Given the description of an element on the screen output the (x, y) to click on. 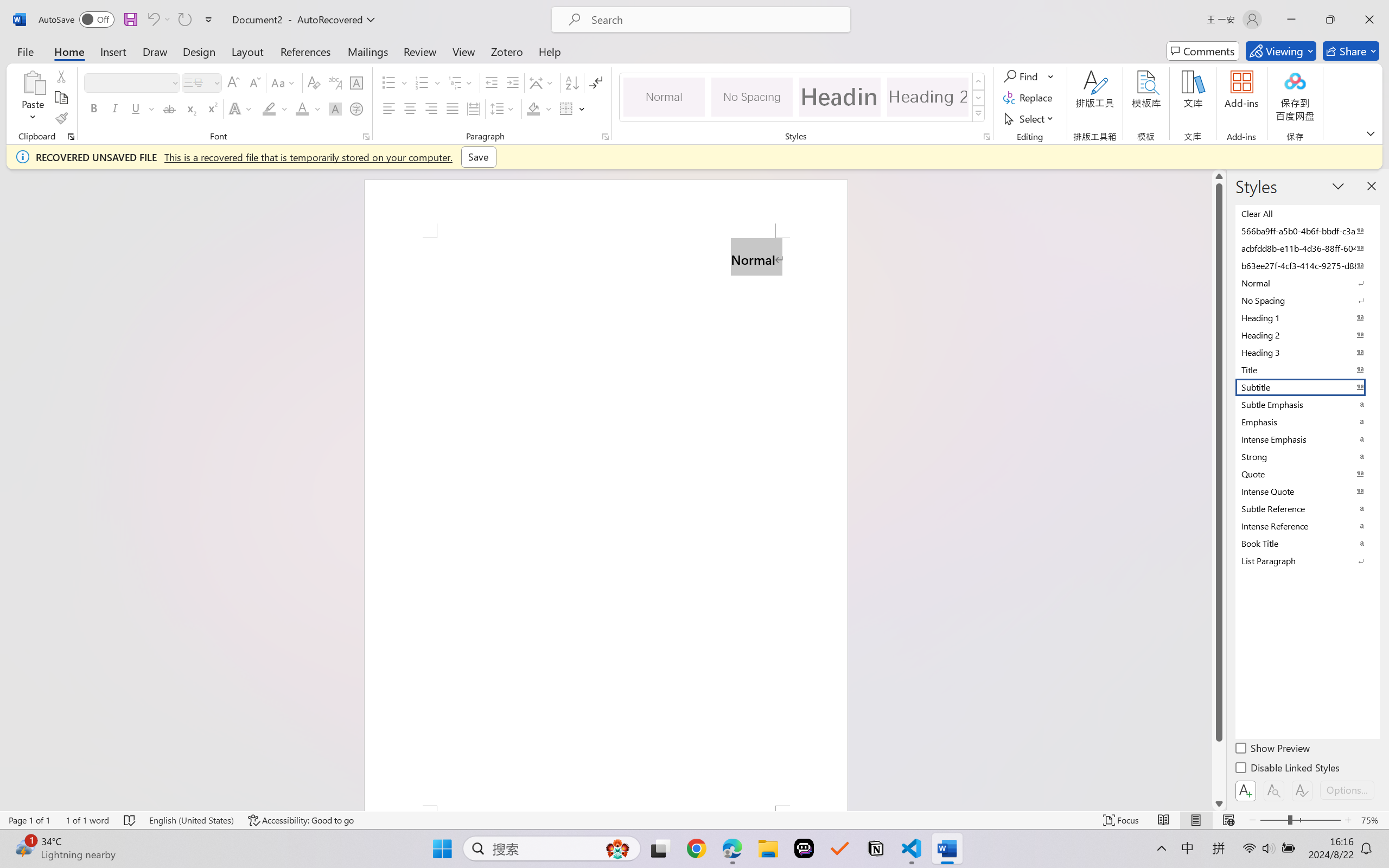
Align Left (388, 108)
Text Highlight Color Yellow (269, 108)
Italic (115, 108)
AutomationID: QuickStylesGallery (802, 97)
Font... (365, 136)
Grow Font (233, 82)
Distributed (473, 108)
Font Color RGB(255, 0, 0) (302, 108)
Subtle Reference (1306, 508)
Task Pane Options (1338, 185)
